Given the description of an element on the screen output the (x, y) to click on. 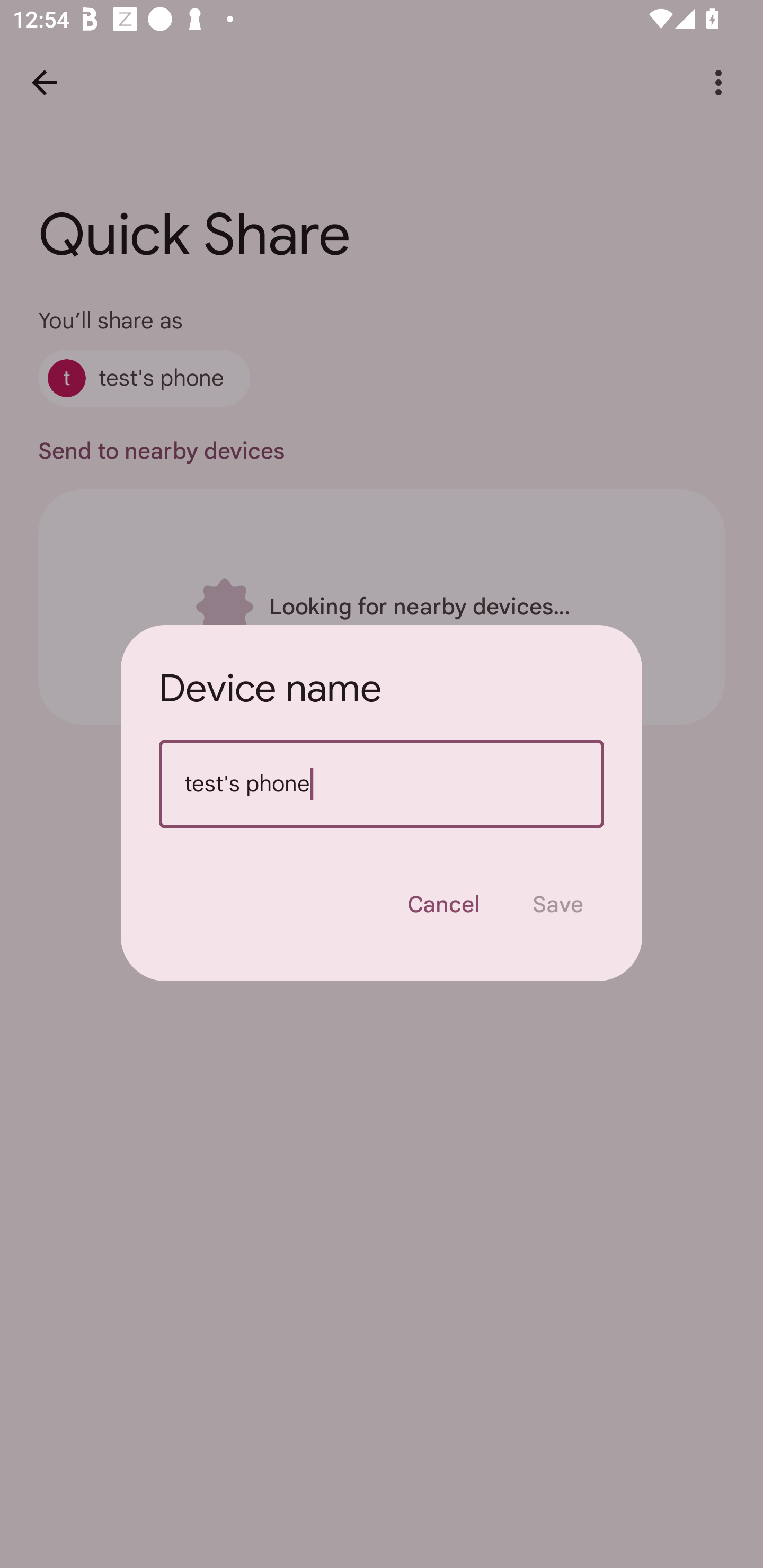
test's phone Device name (381, 783)
Cancel (443, 904)
Save (557, 904)
